Given the description of an element on the screen output the (x, y) to click on. 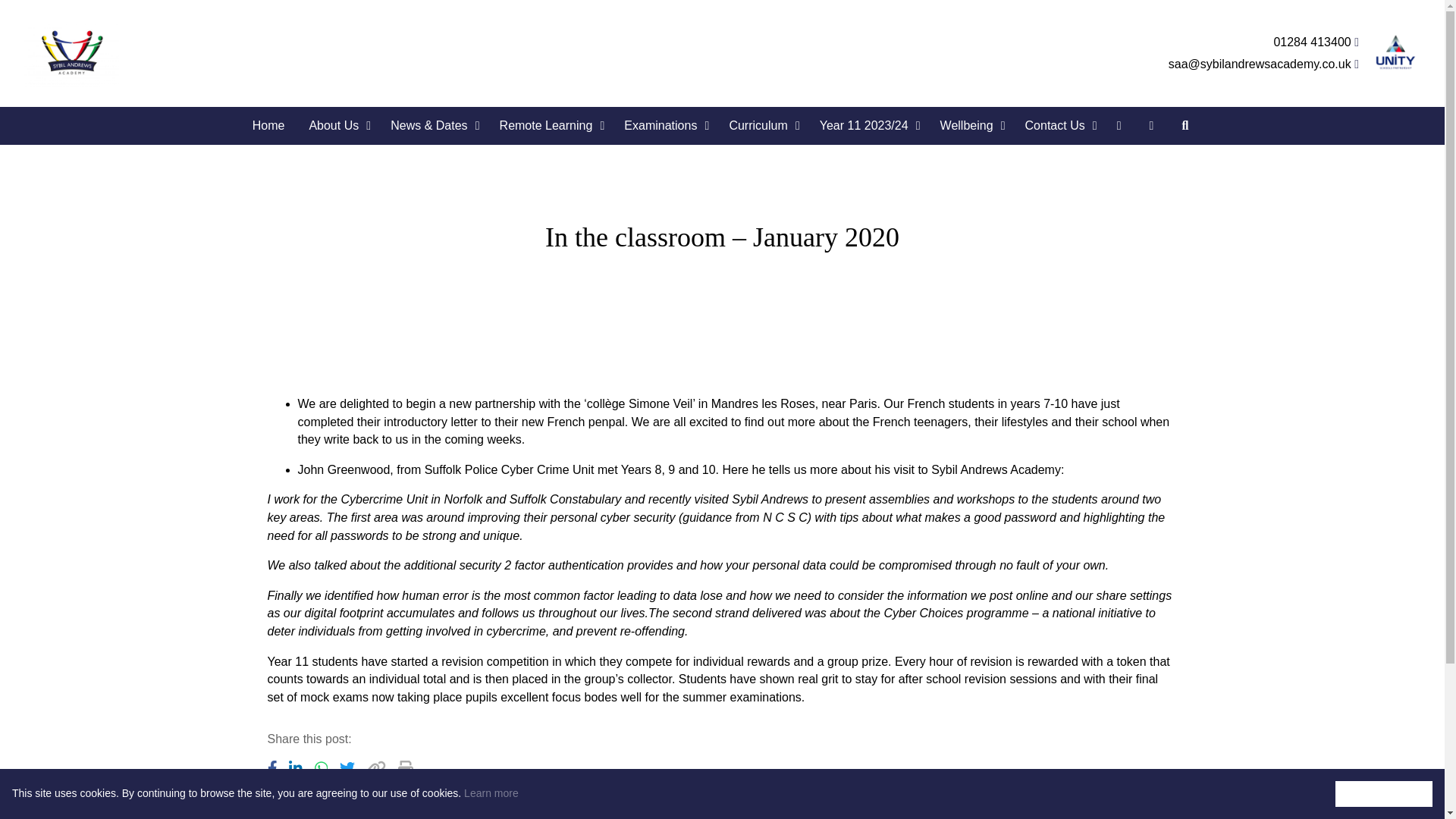
Remote Learning (549, 125)
Home (268, 125)
Copy URL (405, 767)
Share to WhatsApp (320, 767)
Examinations (663, 125)
Wellbeing (970, 125)
Share to LinkedIn (295, 767)
Copy URL (375, 767)
Share to Twitter (347, 767)
Curriculum (761, 125)
